Given the description of an element on the screen output the (x, y) to click on. 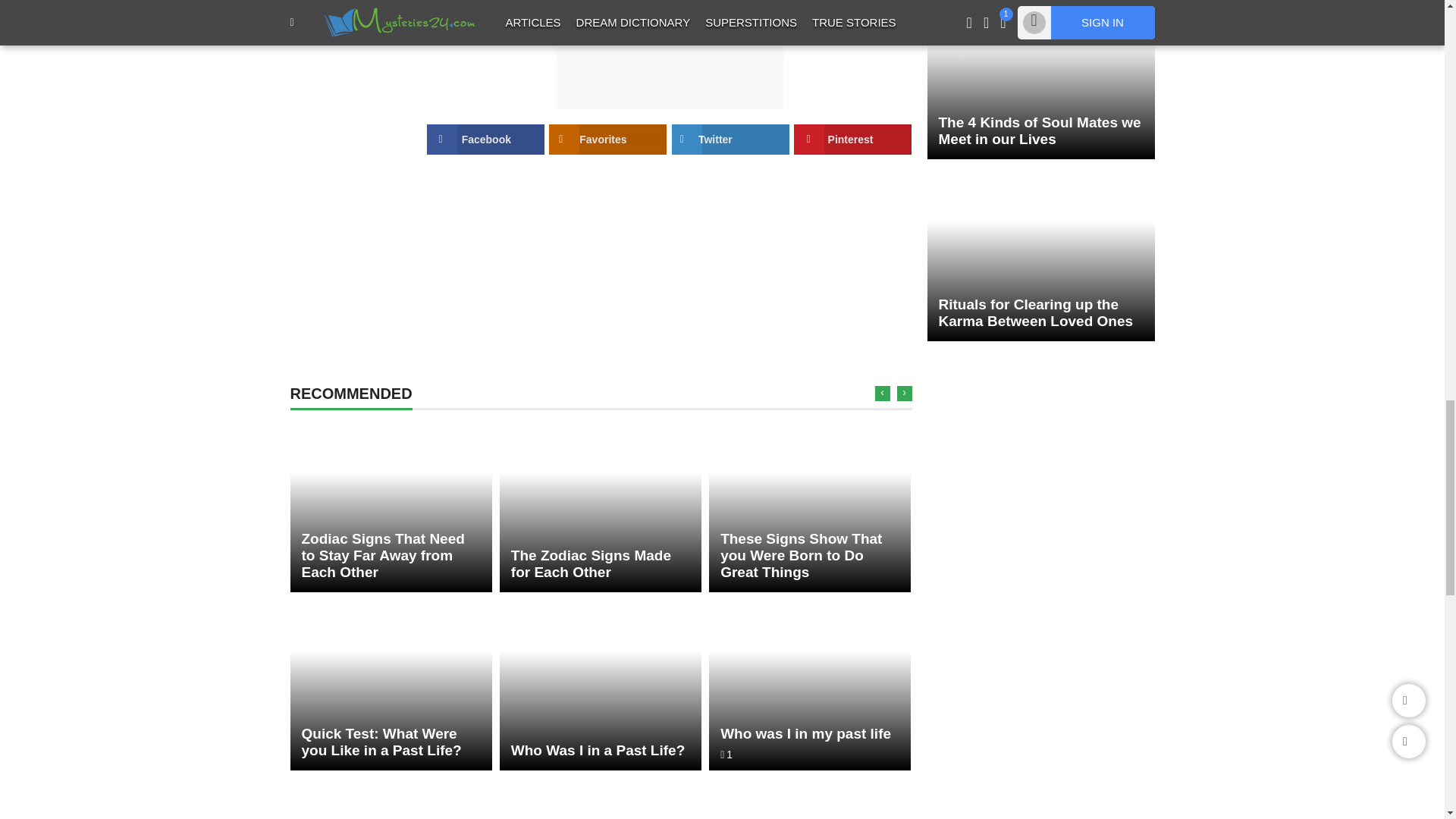
The Power and Experience of Our Past Lives (810, 798)
Who was I in my past life (810, 684)
The 4 Kinds of Soul Mates we Meet in our Lives (1040, 79)
Zodiac Signs That Need to Stay Far Away from Each Other (390, 506)
Share this page on Pinterest (852, 139)
Share this page on Facebook (484, 139)
Rituals for Clearing up the Karma Between Loved Ones (1040, 255)
The Life Mission of Each Zodiac Sign (390, 798)
Add to favorites (607, 139)
Who Was I in a Past Life? (600, 684)
The Zodiac Signs Made for Each Other (600, 506)
Quick Test: What Were you Like in a Past Life? (390, 684)
These Signs Show That you Were Born to Do Great Things (810, 506)
Share this page on Twitter (730, 139)
